Given the description of an element on the screen output the (x, y) to click on. 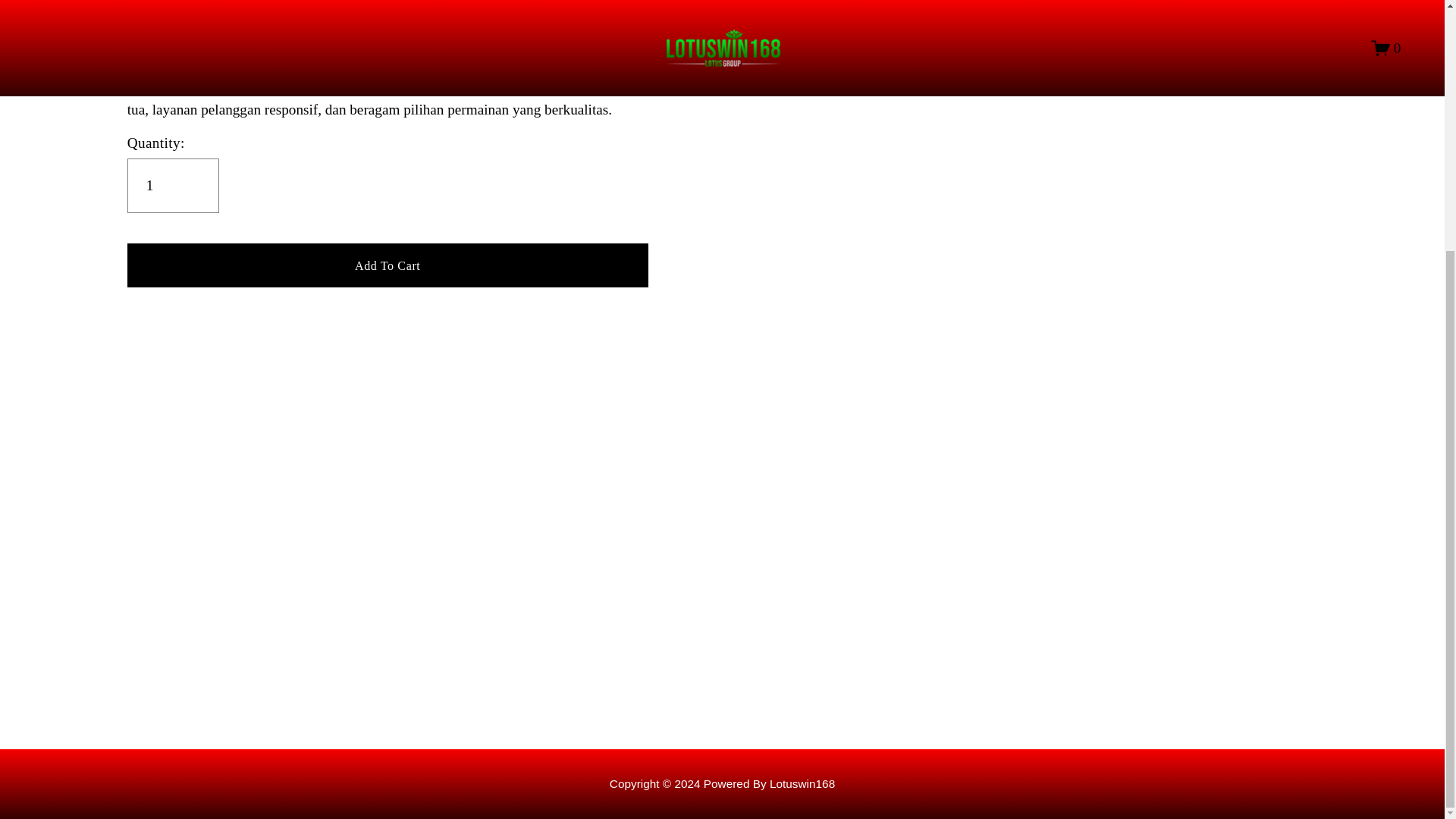
Add To Cart (387, 264)
Lotuswin168 (802, 783)
lotuswin168 (802, 783)
LOTUSWIN168 (176, 85)
1 (173, 185)
